Given the description of an element on the screen output the (x, y) to click on. 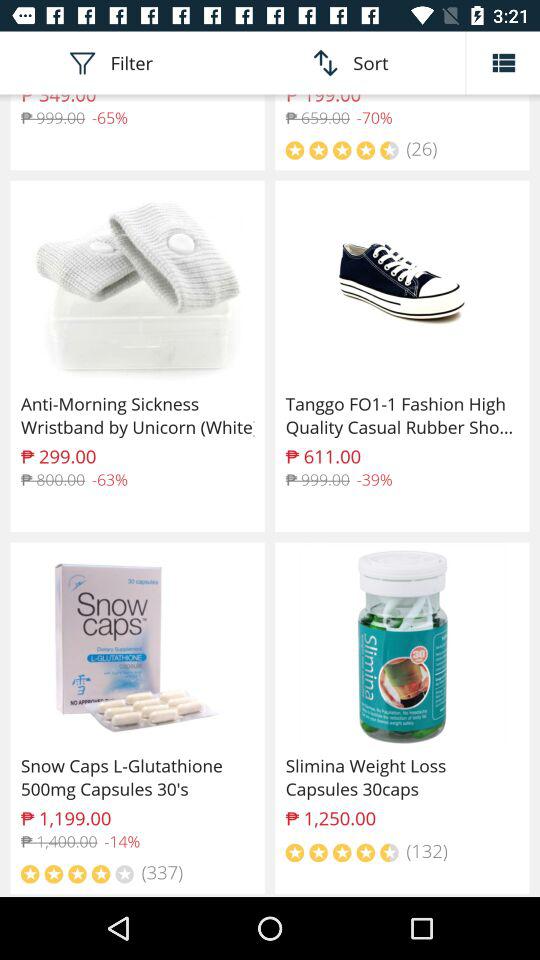
change image display (503, 62)
